Given the description of an element on the screen output the (x, y) to click on. 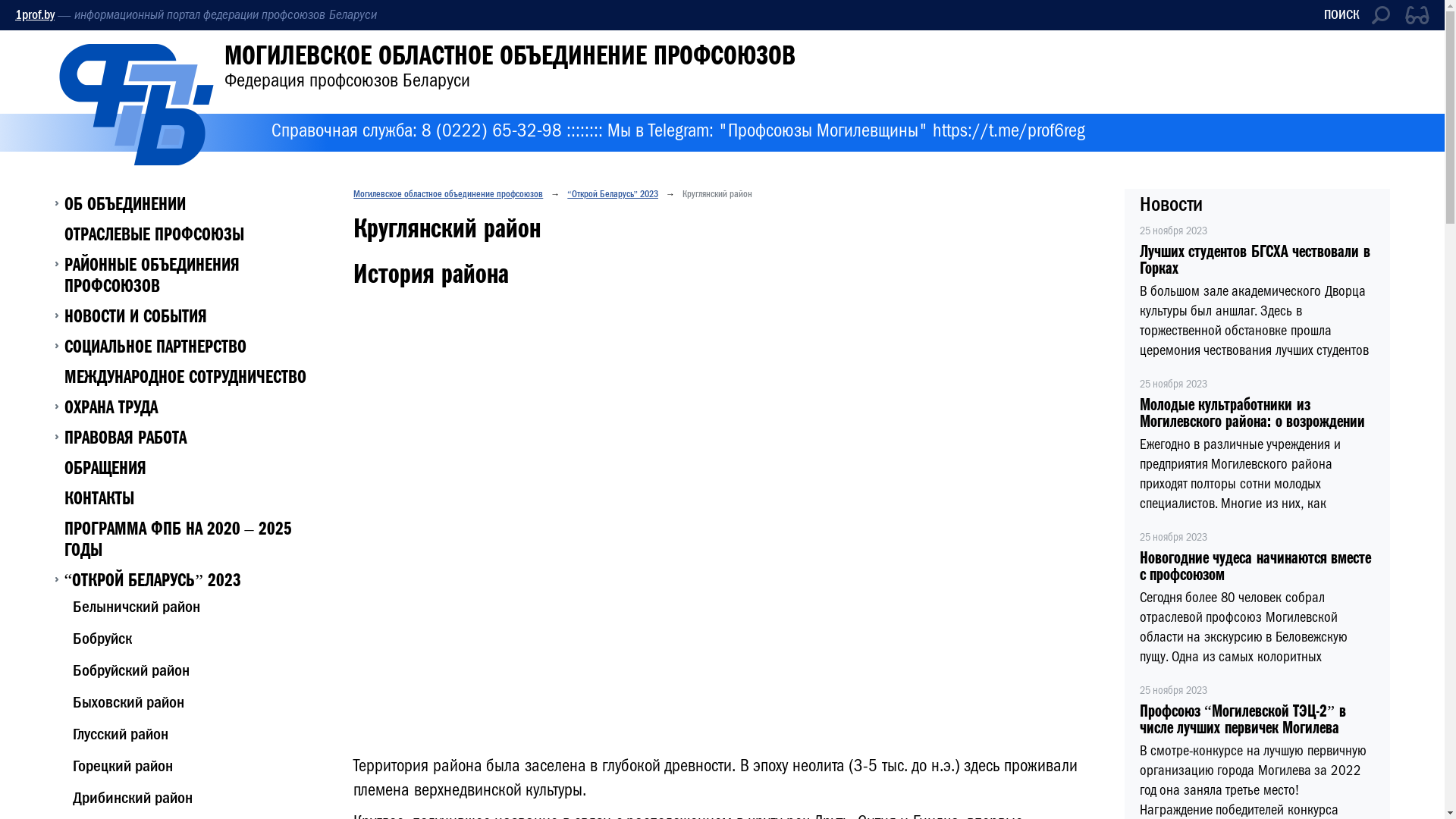
1prof.by Element type: text (34, 14)
